Given the description of an element on the screen output the (x, y) to click on. 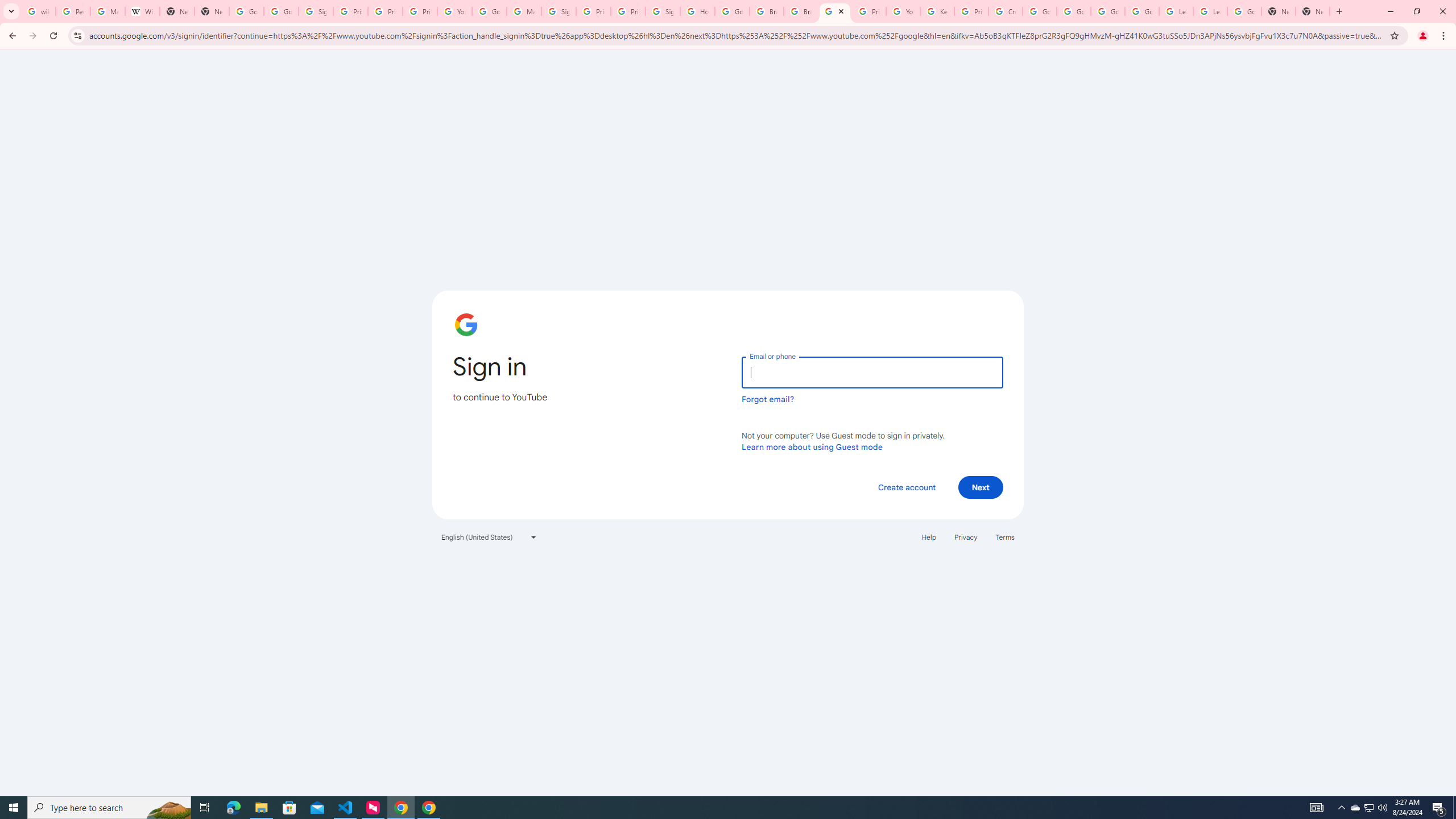
Sign in - Google Accounts (557, 11)
Create account (905, 486)
New Tab (1278, 11)
